Given the description of an element on the screen output the (x, y) to click on. 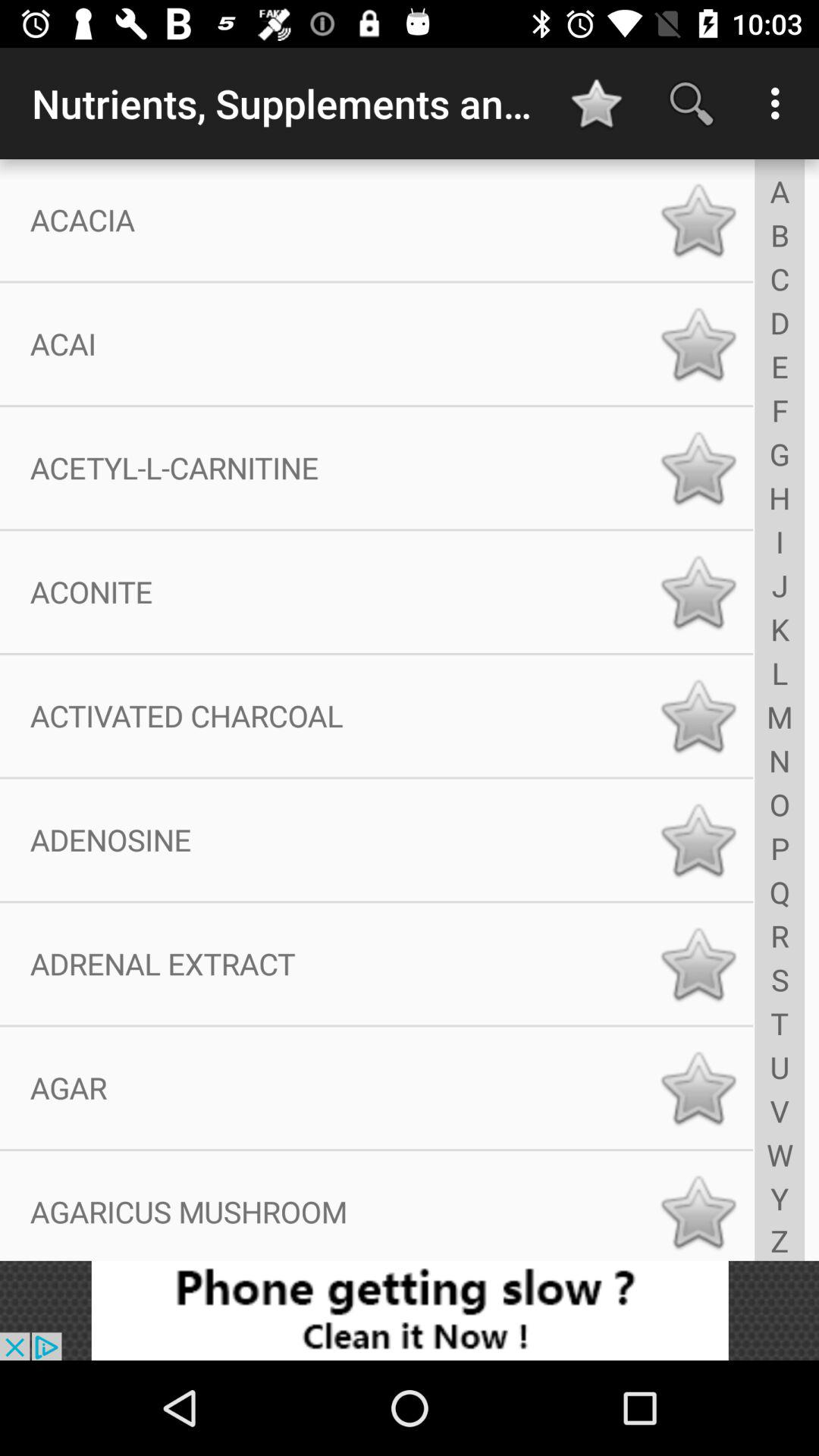
bookmark item (697, 344)
